Given the description of an element on the screen output the (x, y) to click on. 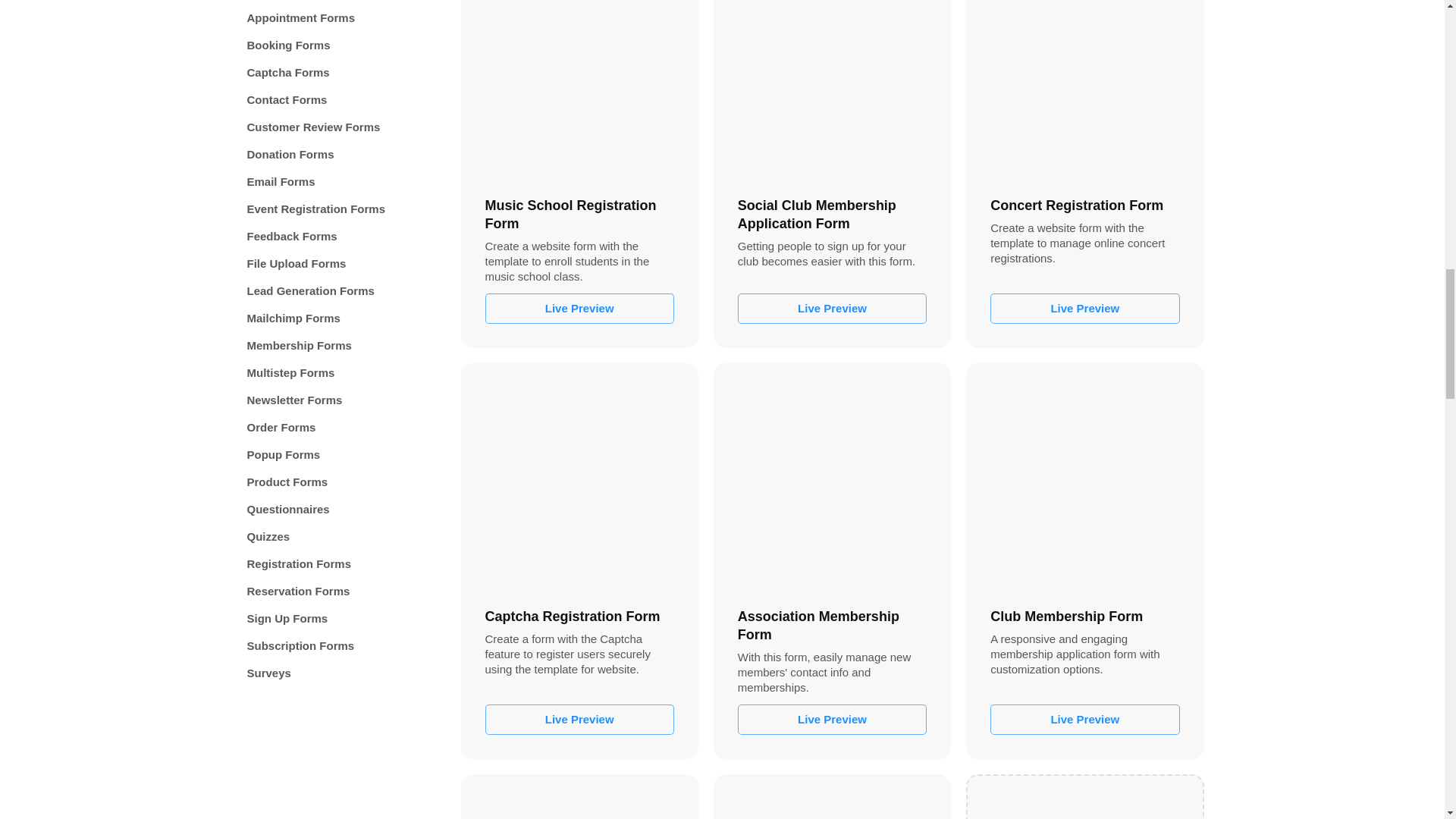
Association Membership Form (832, 481)
Concert Registration Form (1084, 90)
Captcha Registration Form (579, 481)
Event Registration Form (579, 800)
Social Club Membership Application Form (832, 90)
Music School Registration Form (579, 90)
Caravan Booking Form (832, 800)
Club Membership Form (1084, 481)
